Given the description of an element on the screen output the (x, y) to click on. 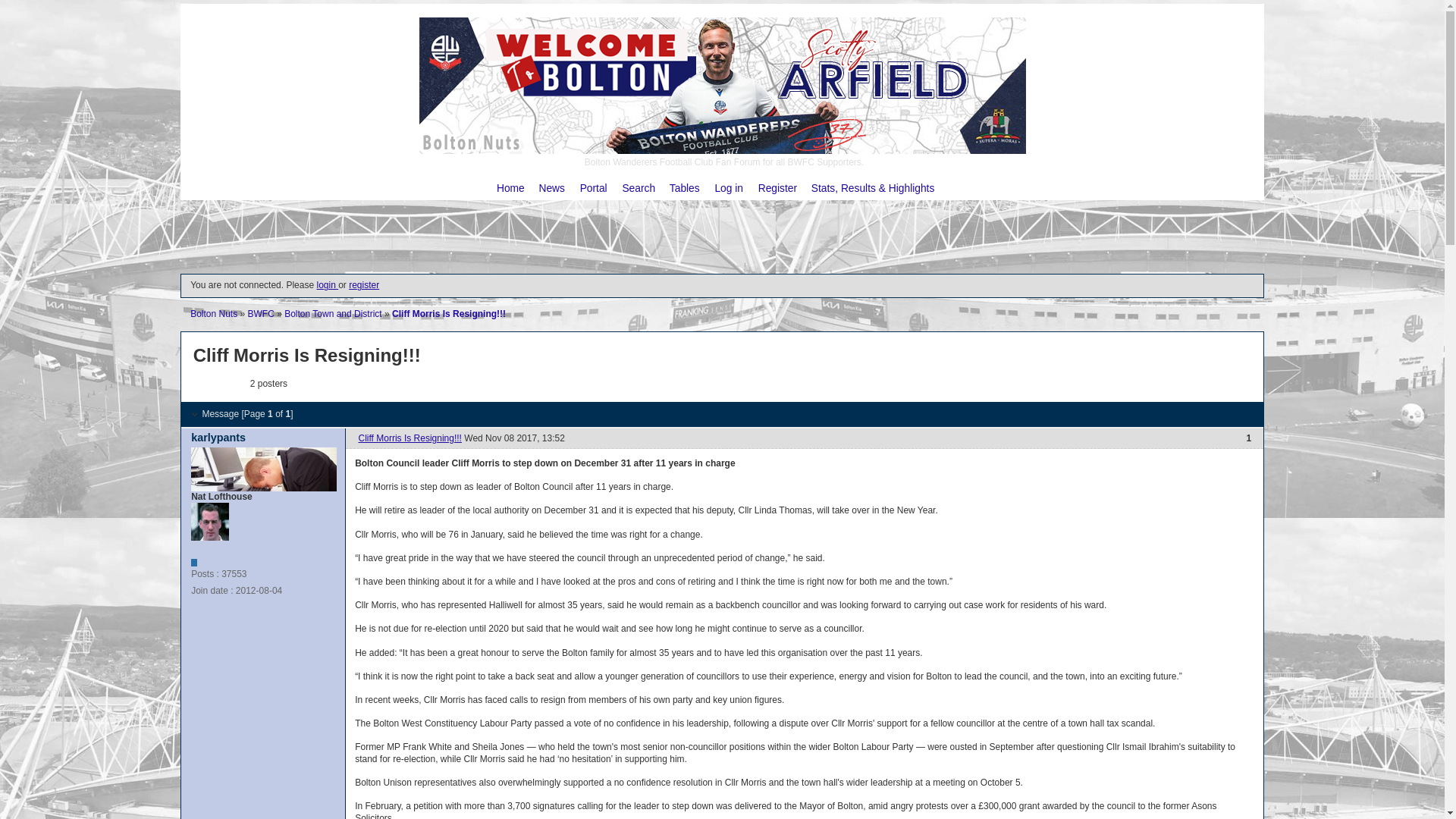
Portal (593, 188)
BWFC (261, 313)
Cliff Morris Is Resigning!!! (409, 438)
wessy (210, 383)
Log in (727, 188)
Bolton Nuts (213, 313)
Nat Lofthouse (209, 521)
Search (638, 188)
Bolton Town and District (332, 313)
Tables (684, 188)
News (551, 188)
Cliff Morris Is Resigning!!! (448, 313)
